Given the description of an element on the screen output the (x, y) to click on. 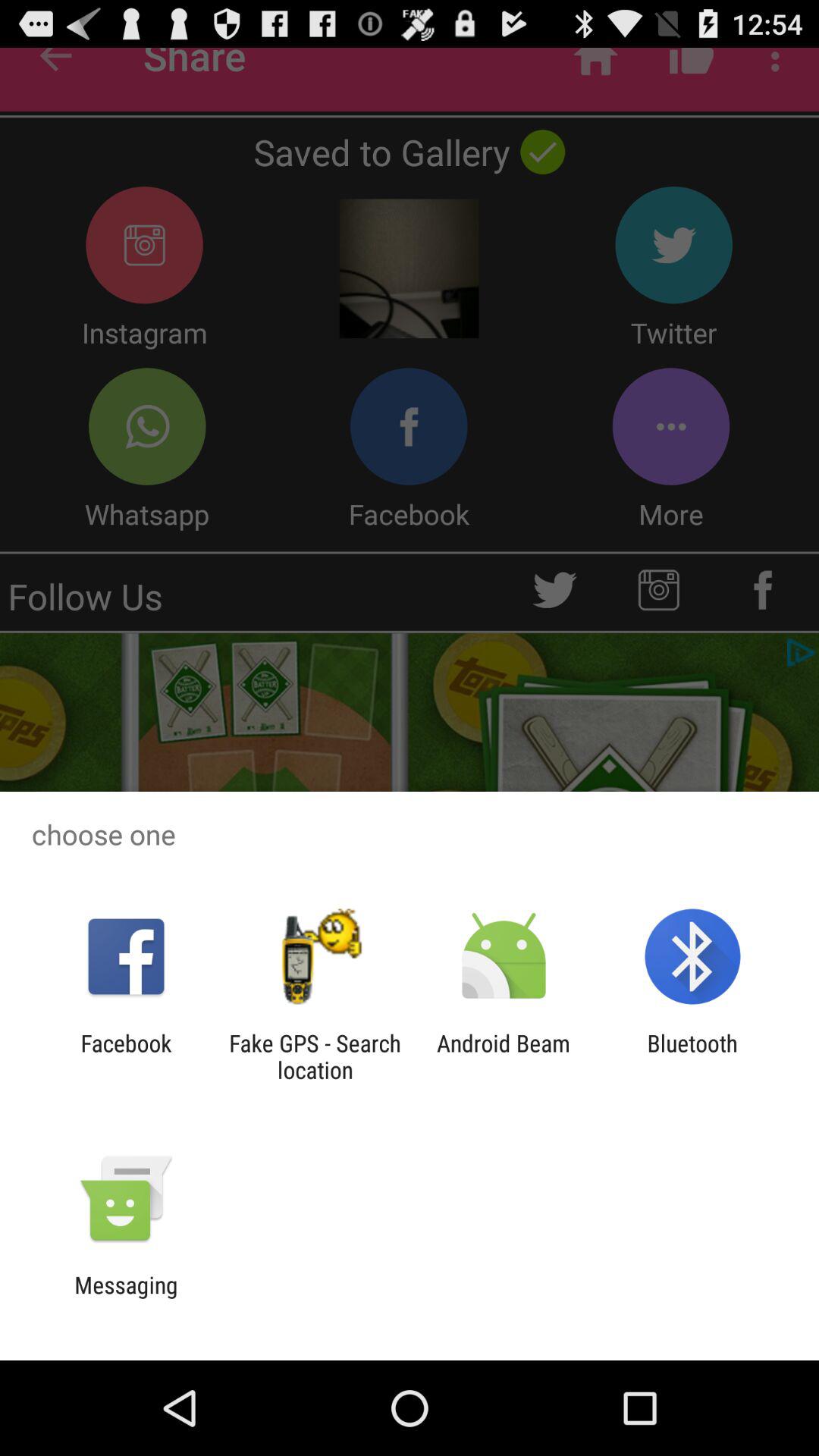
turn off app next to android beam icon (314, 1056)
